Given the description of an element on the screen output the (x, y) to click on. 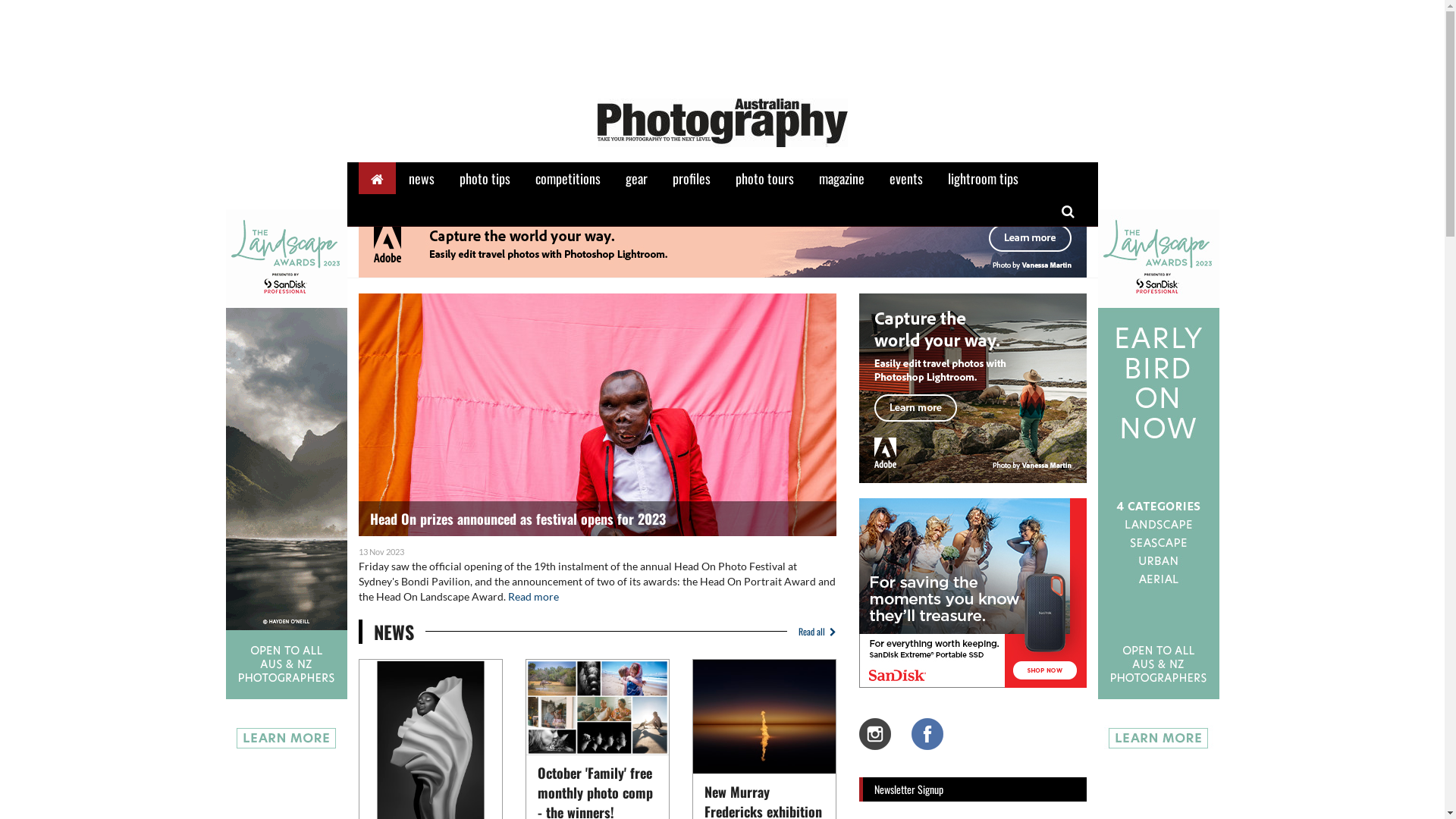
news Element type: text (420, 178)
Home Element type: text (376, 178)
Head On prizes announced as festival opens for 2023 Element type: text (596, 414)
magazine Element type: text (841, 178)
Read more Element type: text (533, 595)
gear Element type: text (635, 178)
photo tips Element type: text (484, 178)
photo tours Element type: text (764, 178)
lightroom tips Element type: text (982, 178)
competitions Element type: text (567, 178)
Read all Element type: text (811, 631)
events Element type: text (905, 178)
Search Element type: text (1067, 209)
profiles Element type: text (690, 178)
